Given the description of an element on the screen output the (x, y) to click on. 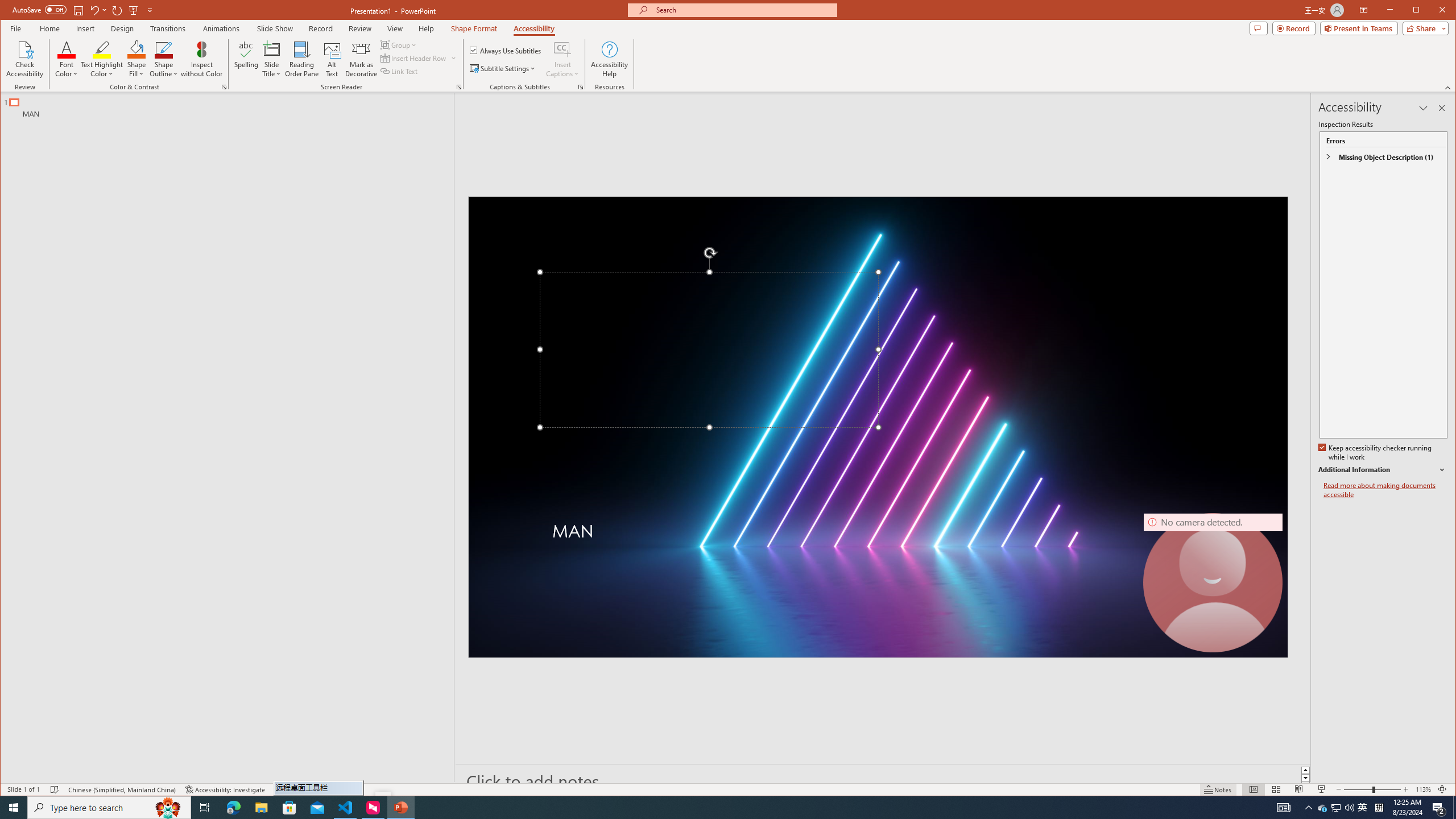
Link Text (399, 70)
Subtitle Settings (502, 68)
